Given the description of an element on the screen output the (x, y) to click on. 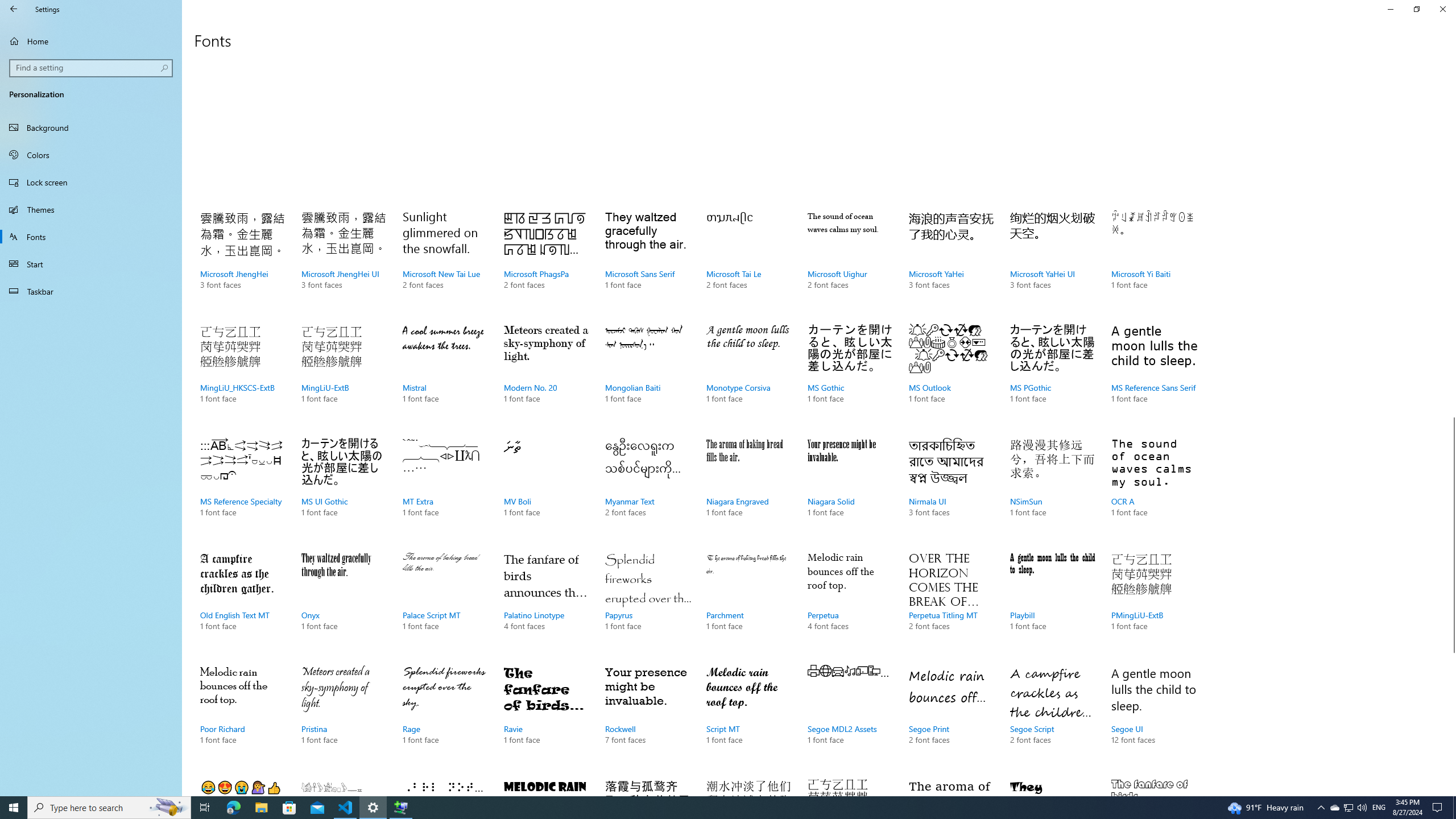
MS Gothic, 1 font face (850, 375)
SimSun, 1 font face (748, 784)
Perpetua, 4 font faces (850, 603)
Perpetua Titling MT, 2 font faces (951, 603)
Onyx, 1 font face (343, 603)
Playbill, 1 font face (1052, 603)
MT Extra, 1 font face (445, 489)
Segoe Print, 2 font faces (951, 716)
Rockwell, 7 font faces (647, 716)
Background (91, 126)
MV Boli, 1 font face (545, 489)
OCR A, 1 font face (1153, 489)
